Given the description of an element on the screen output the (x, y) to click on. 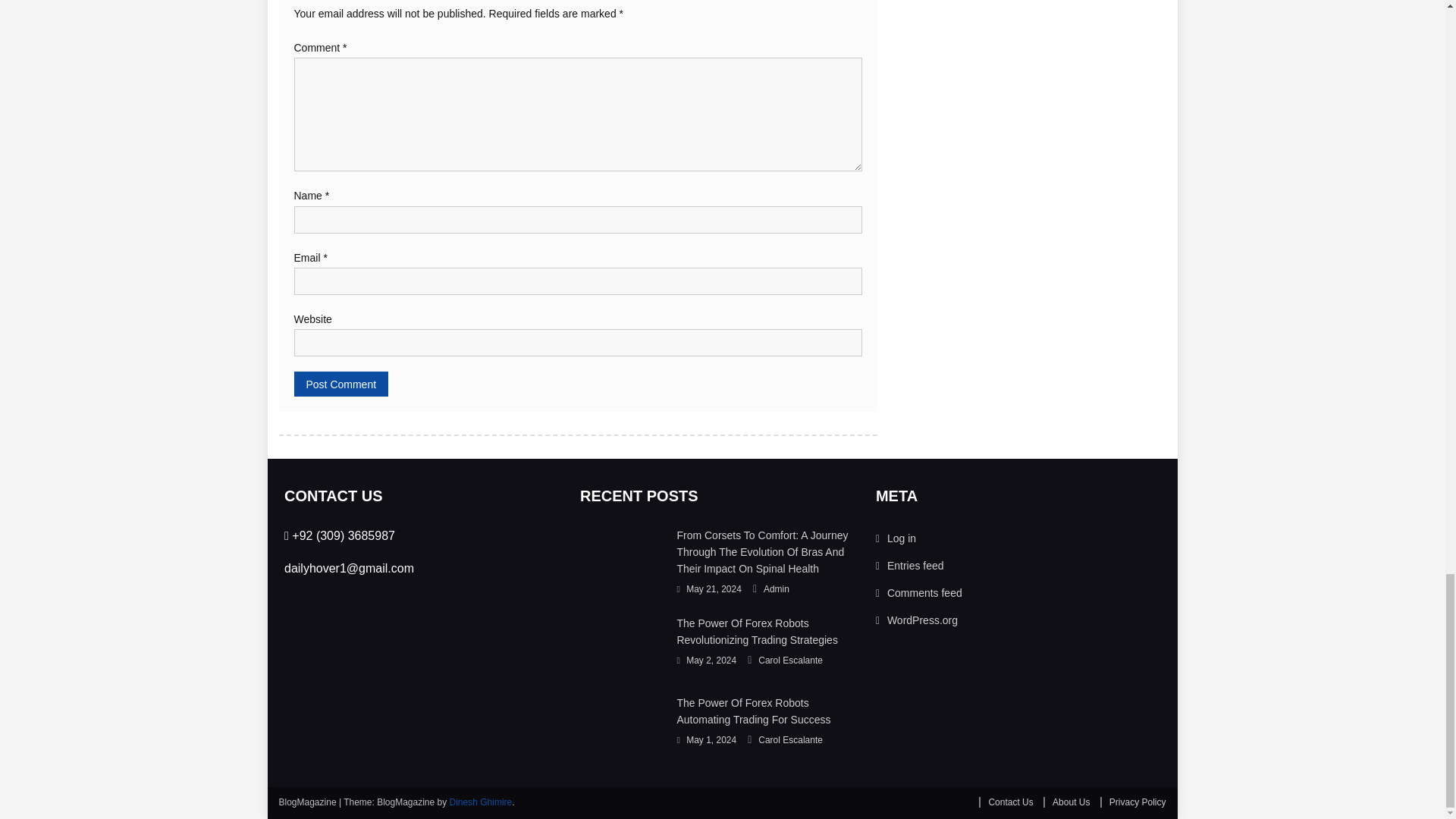
Post Comment (341, 383)
